Given the description of an element on the screen output the (x, y) to click on. 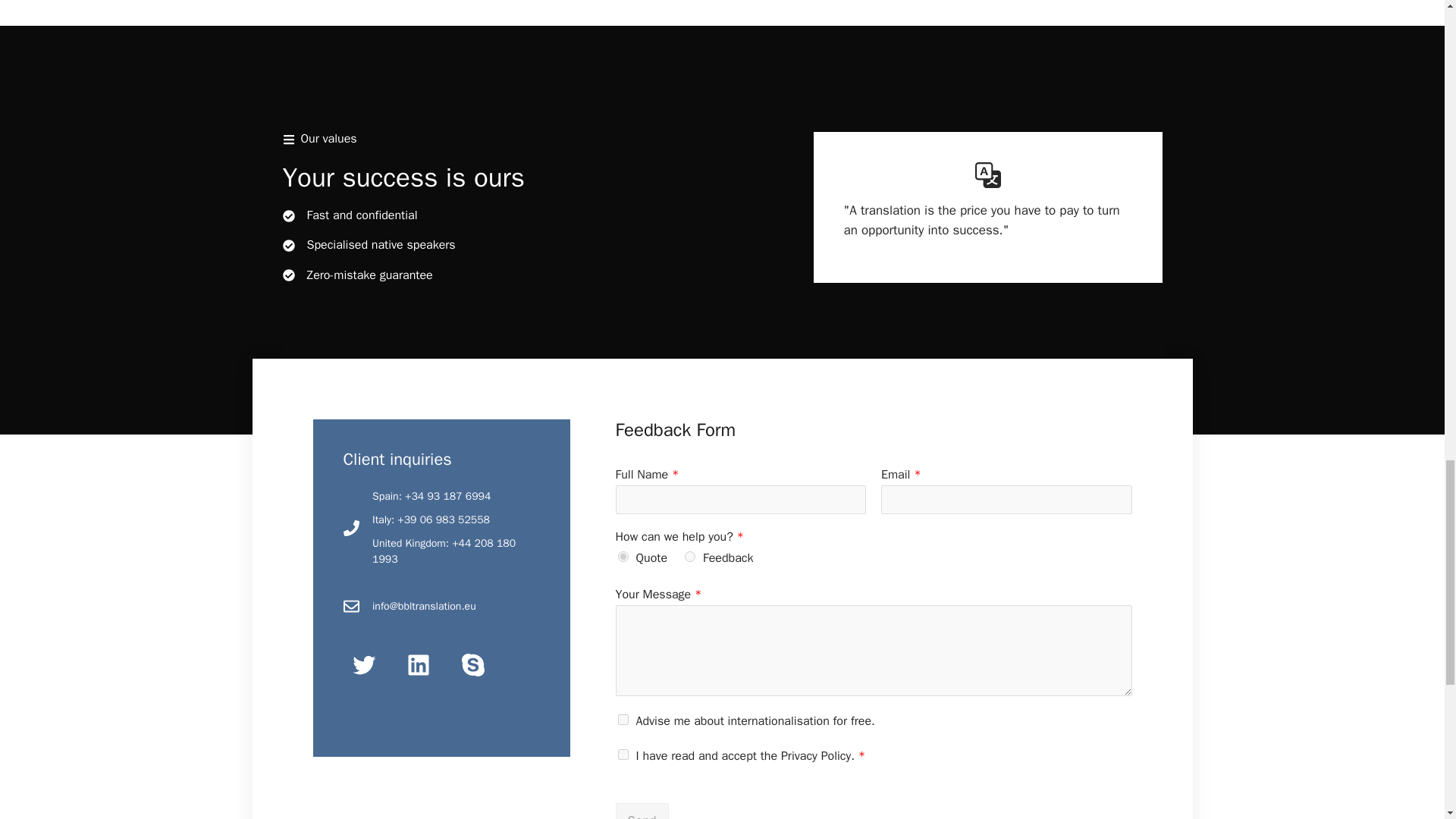
Quote (622, 556)
I have read and accept the Privacy Policy. (622, 754)
Feedback (689, 556)
Advise me about internationalisation for free. (622, 719)
